Given the description of an element on the screen output the (x, y) to click on. 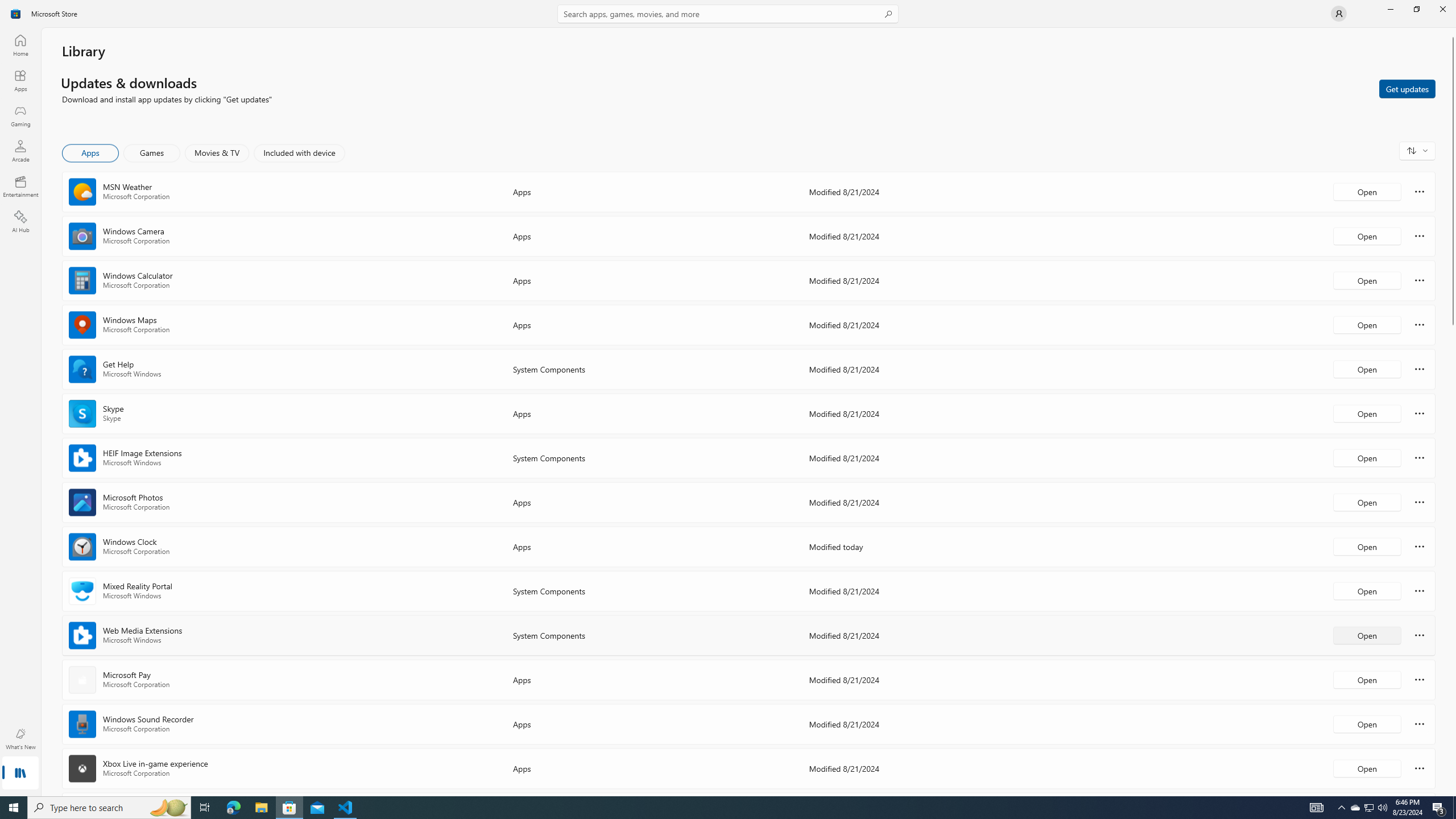
Vertical (1452, 412)
Vertical Small Decrease (1452, 31)
AutomationID: NavigationControl (728, 398)
Games (151, 153)
Search (727, 13)
